Given the description of an element on the screen output the (x, y) to click on. 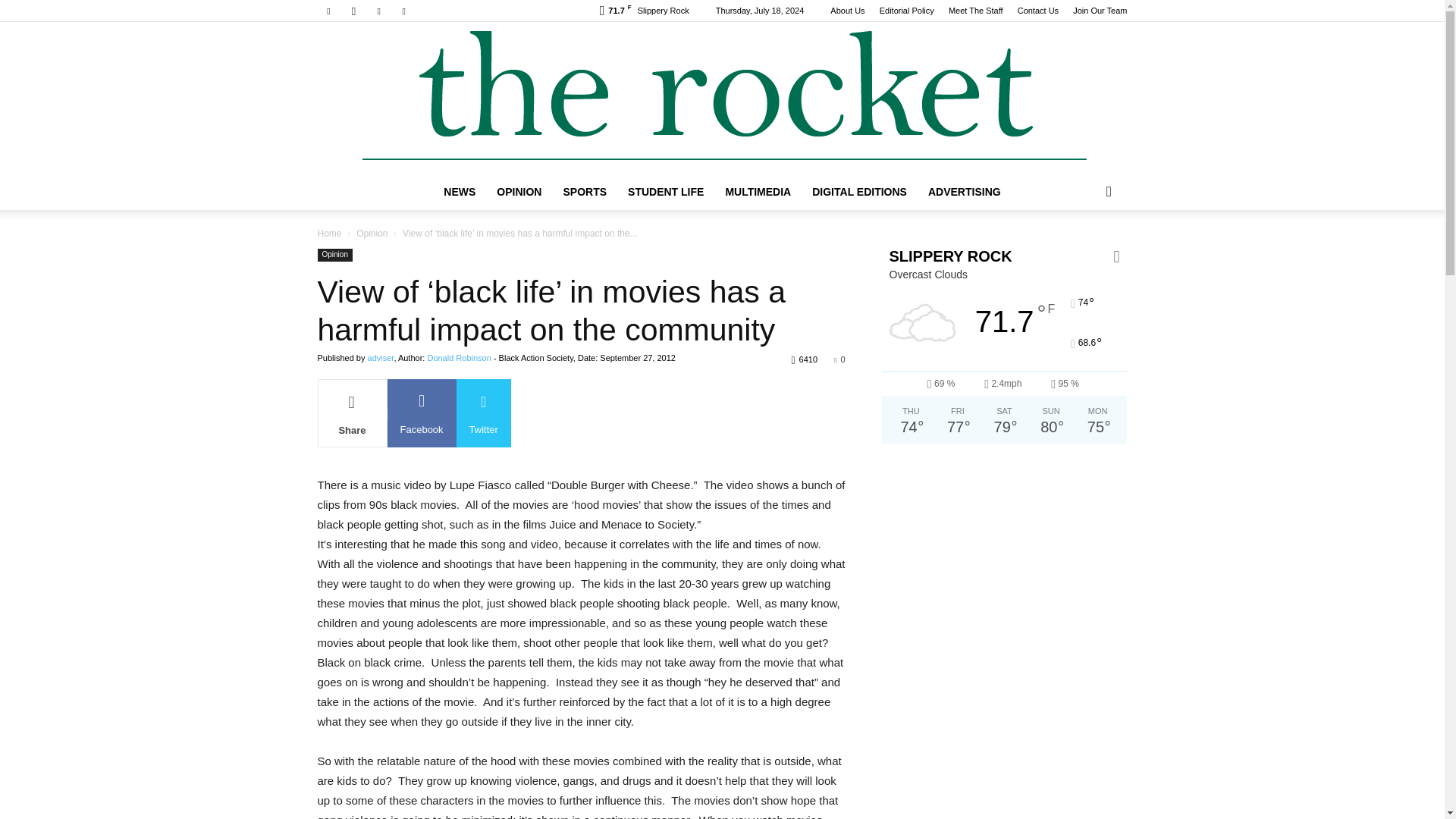
Home (328, 233)
Meet The Staff (976, 10)
About Us (846, 10)
Youtube (403, 10)
MULTIMEDIA (758, 191)
STUDENT LIFE (665, 191)
Instagram (353, 10)
Facebook (328, 10)
Join Our Team (1099, 10)
OPINION (518, 191)
Search (1085, 252)
View all posts in Opinion (371, 233)
DIGITAL EDITIONS (859, 191)
Editorial Policy (906, 10)
Opinion (371, 233)
